Given the description of an element on the screen output the (x, y) to click on. 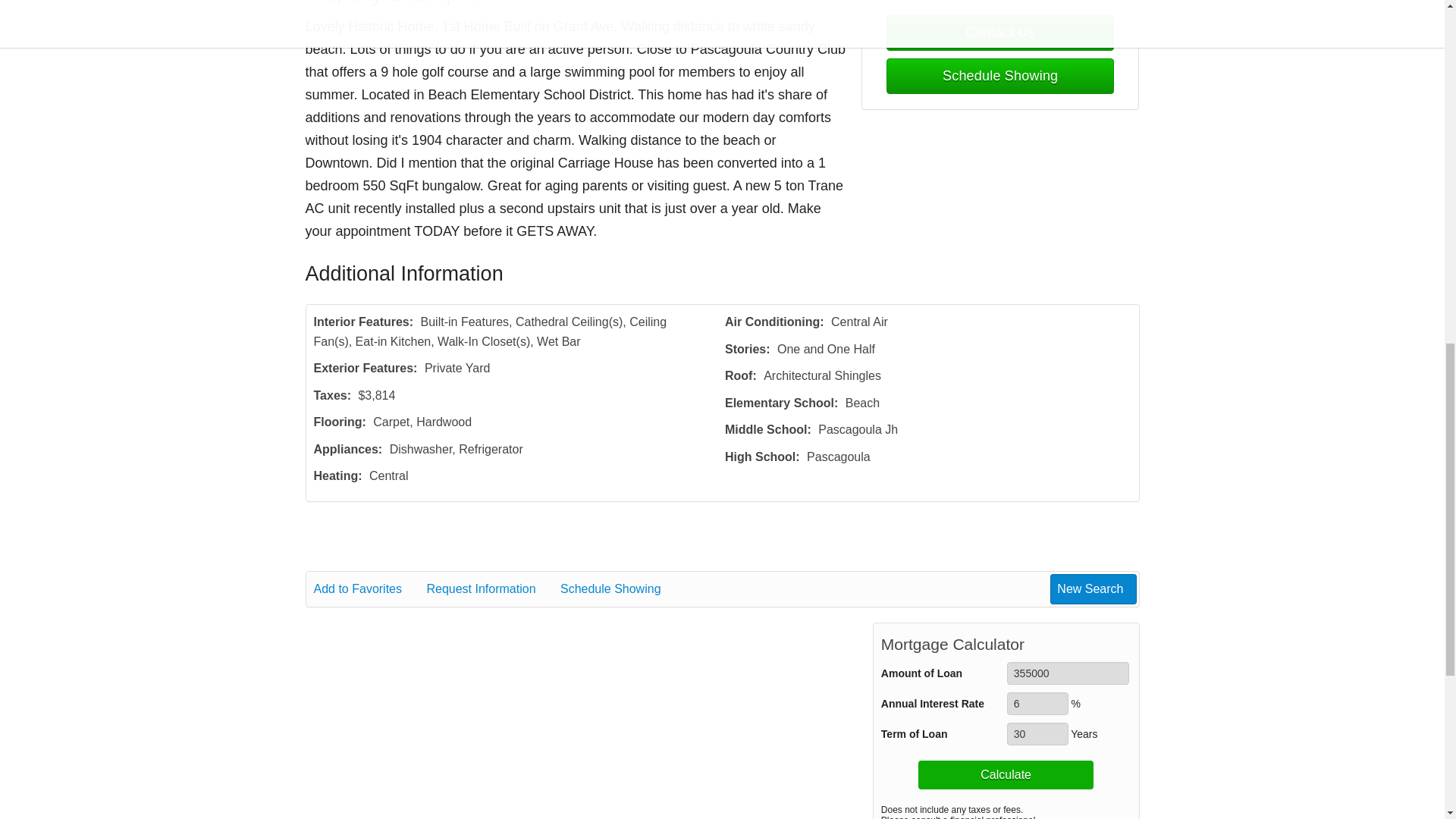
6 (1037, 703)
Contact Us (999, 32)
30 (1037, 733)
355000 (1068, 672)
